Given the description of an element on the screen output the (x, y) to click on. 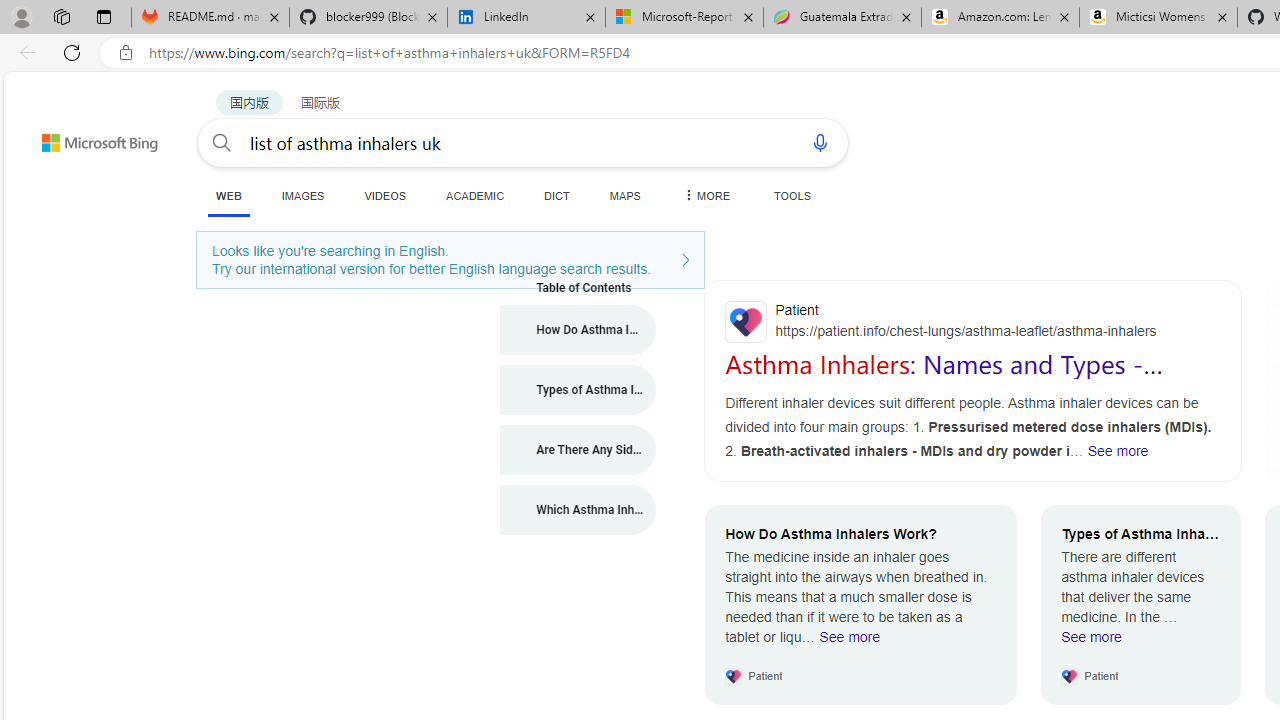
LinkedIn (526, 17)
Are There Any Side-Effects from Asthma Inhalers? (578, 449)
DICT (557, 195)
ACADEMIC (475, 195)
Which Asthma Inhaler Device Should I use? (578, 509)
TOOLS (792, 195)
MAPS (624, 195)
Back to Bing search (87, 138)
How Do Asthma Inhalers Work? (578, 329)
Dropdown Menu (705, 195)
